Given the description of an element on the screen output the (x, y) to click on. 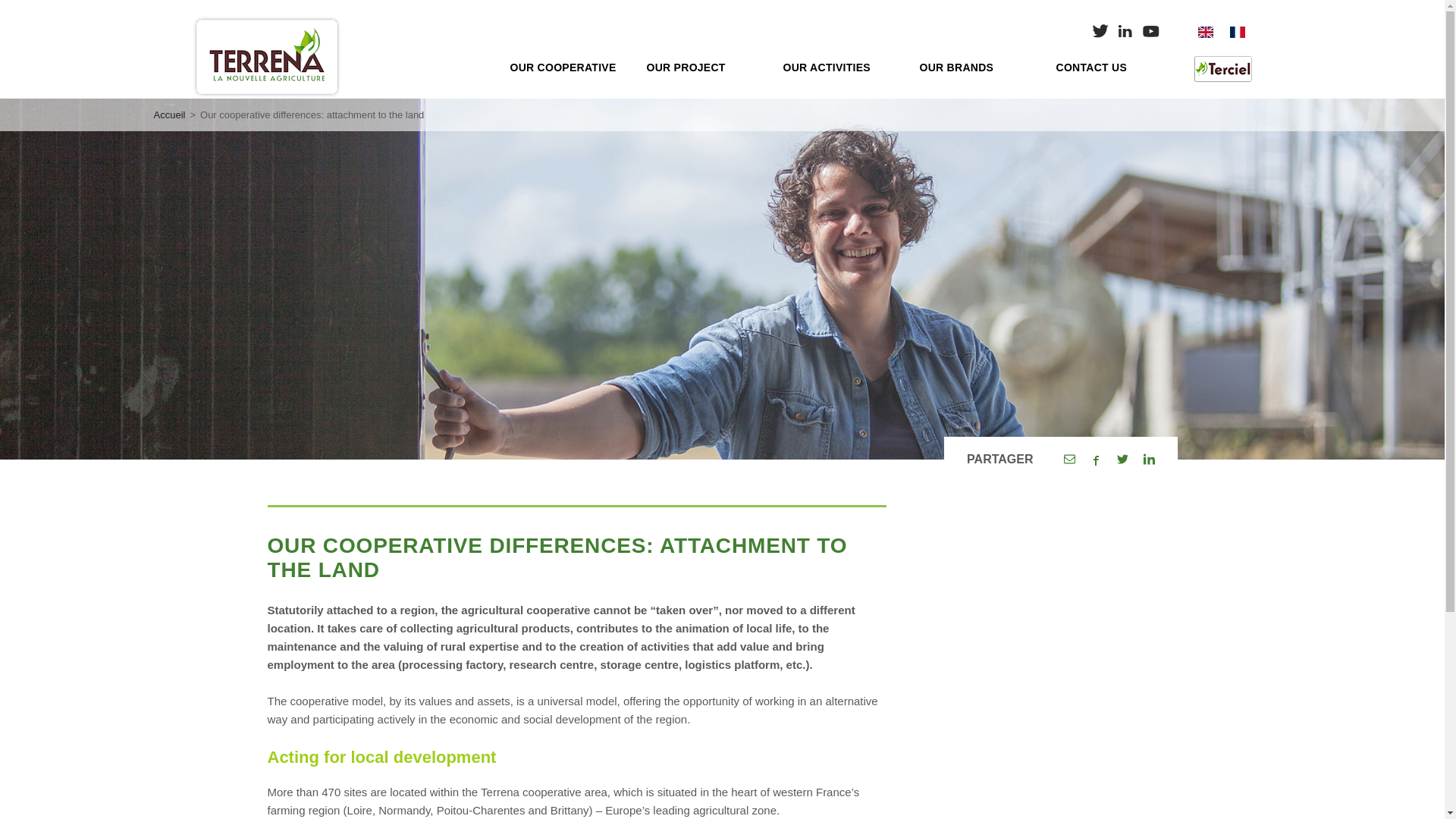
OUR COOPERATIVE (566, 67)
Accueil (168, 114)
Share on Linkedin (1148, 459)
OUR ACTIVITIES (839, 67)
Tweet (1121, 459)
Send by email (1068, 459)
Share on Facebook (1096, 459)
OUR PROJECT (703, 67)
CONTACT US (1112, 67)
OUR BRANDS (975, 67)
